Given the description of an element on the screen output the (x, y) to click on. 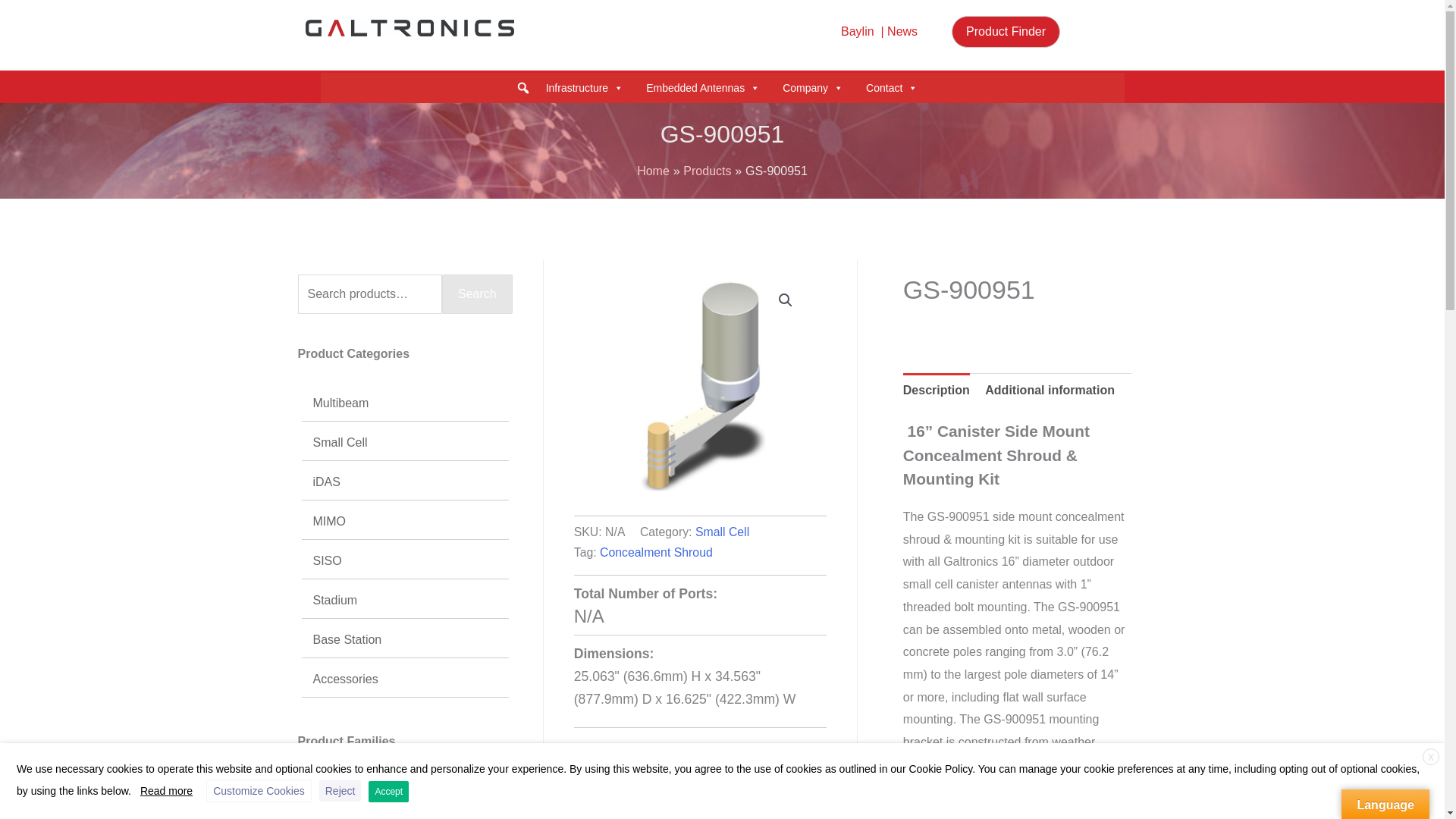
Search (481, 143)
News (901, 31)
Product Finder (1005, 31)
GS-900951-600 (699, 385)
Baylin (858, 31)
Download Datasheet (653, 753)
Infrastructure (584, 87)
Embedded Antennas (702, 87)
Company (812, 87)
Search (22, 22)
